Given the description of an element on the screen output the (x, y) to click on. 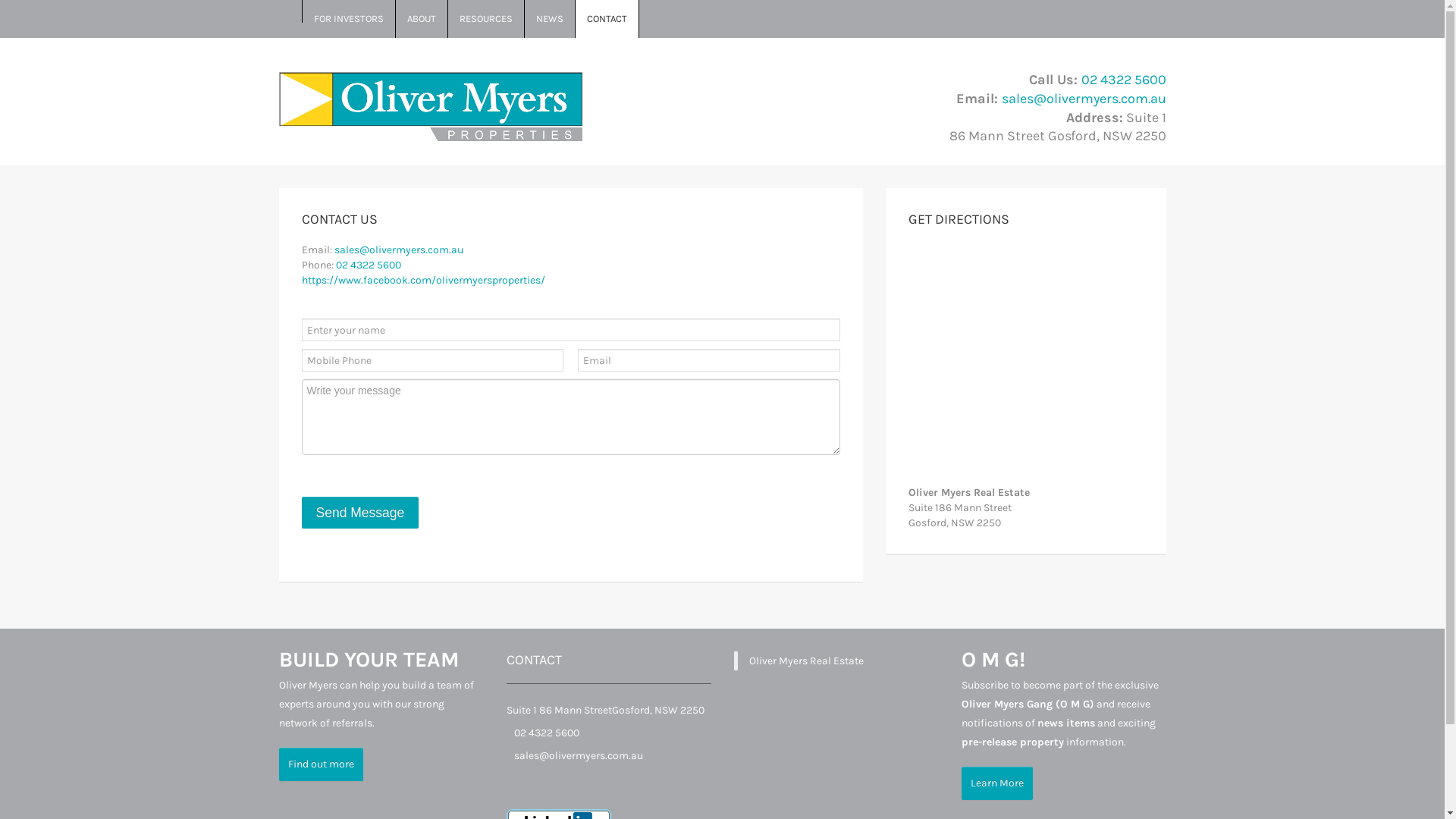
Oliver Myers Real Estate Element type: text (806, 660)
CONTACT Element type: text (606, 18)
sales@olivermyers.com.au Element type: text (1083, 98)
https://www.facebook.com/olivermyersproperties/ Element type: text (423, 279)
02 4322 5600 Element type: text (546, 732)
ABOUT Element type: text (421, 18)
Learn More Element type: text (996, 783)
Find out more Element type: text (321, 764)
FOR INVESTORS Element type: text (348, 18)
Send Message Element type: text (360, 512)
sales@olivermyers.com.au Element type: text (578, 755)
sales@olivermyers.com.au Element type: text (397, 249)
02 4322 5600 Element type: text (1123, 79)
02 4322 5600 Element type: text (367, 264)
NEWS Element type: text (549, 18)
RESOURCES Element type: text (485, 18)
